Given the description of an element on the screen output the (x, y) to click on. 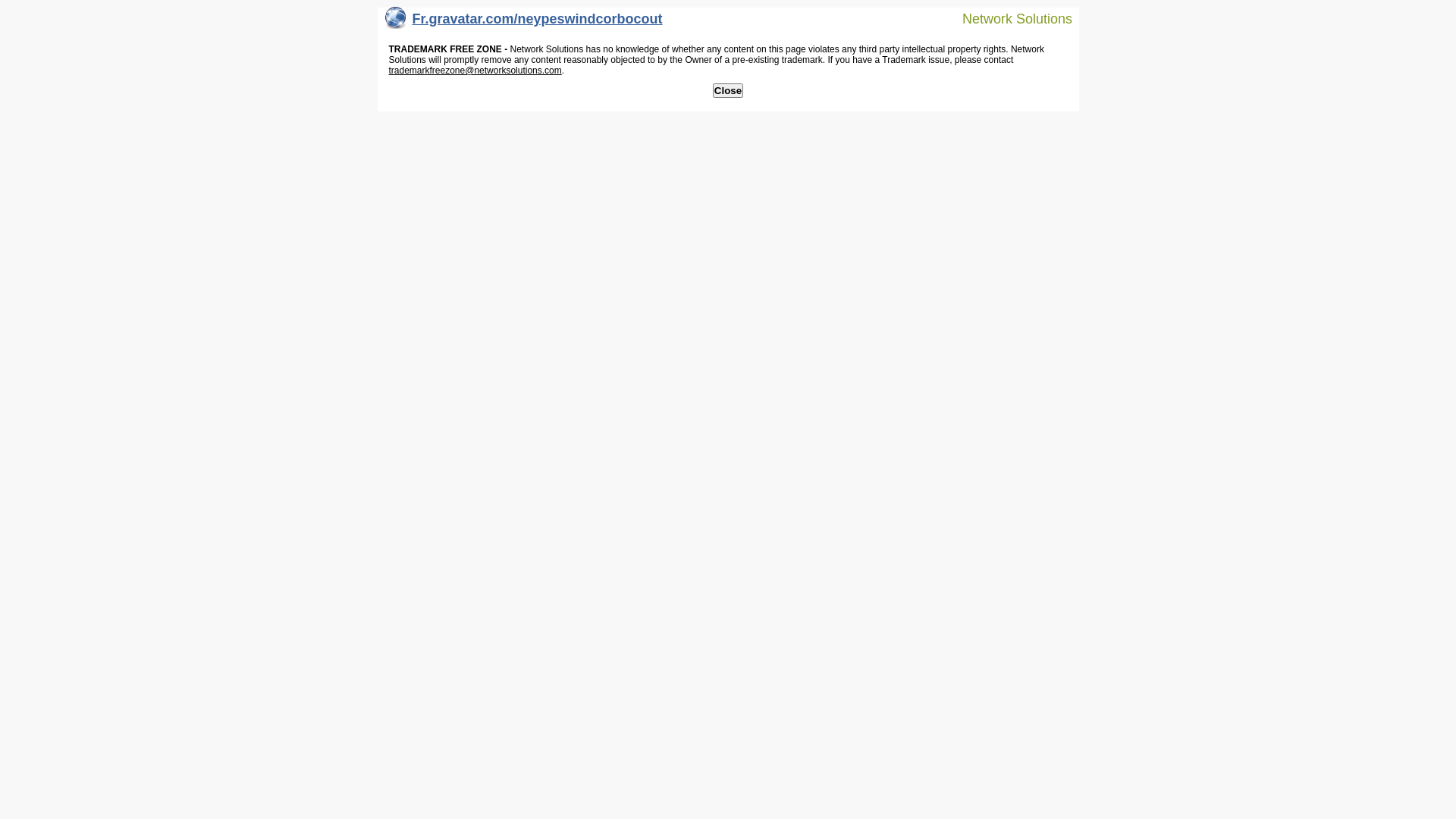
Fr.gravatar.com/neypeswindcorbocout Element type: text (523, 21)
trademarkfreezone@networksolutions.com Element type: text (474, 70)
Close Element type: text (727, 90)
Network Solutions Element type: text (1007, 17)
